Given the description of an element on the screen output the (x, y) to click on. 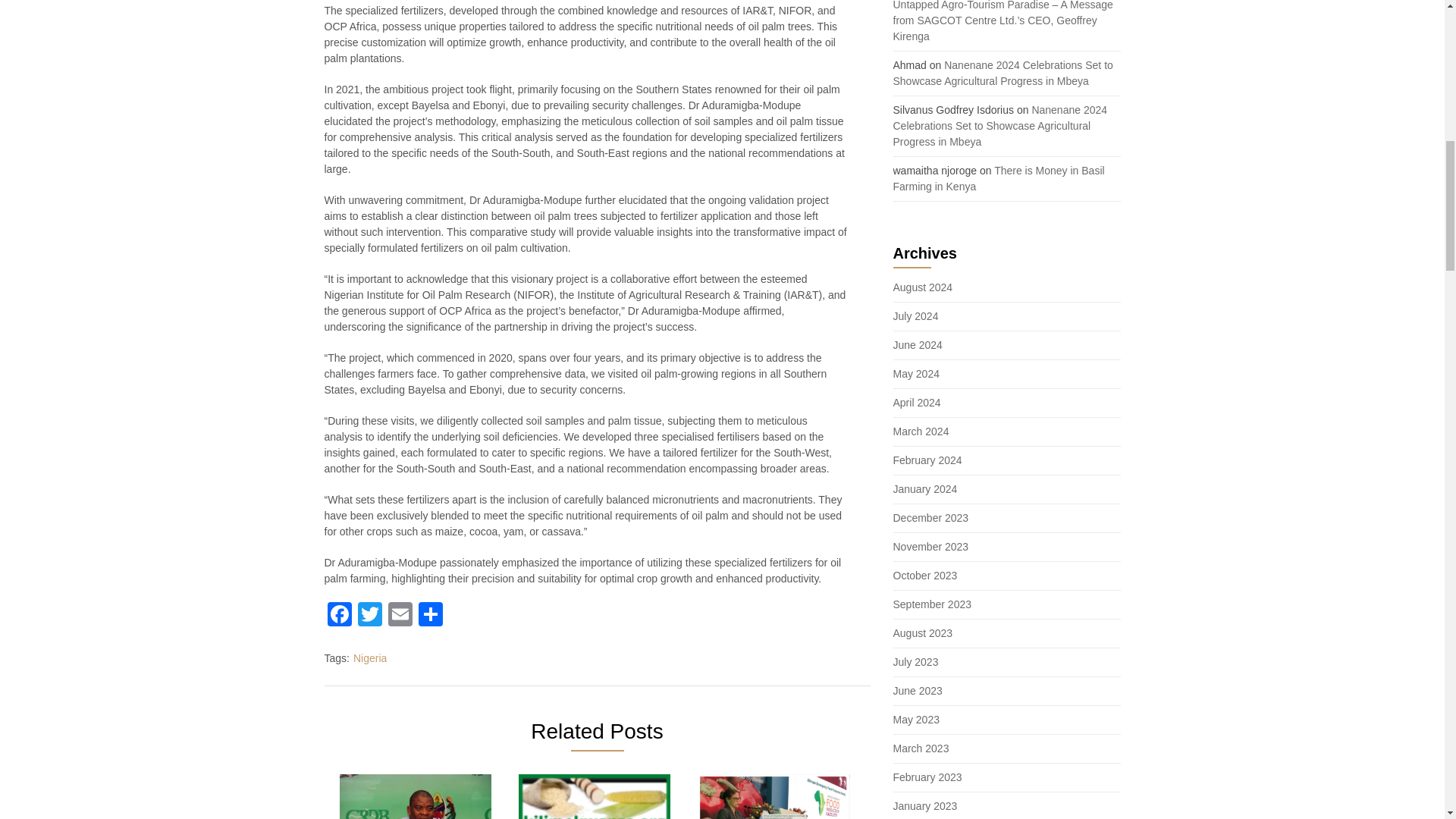
Facebook (339, 615)
Nigeria (370, 657)
Email (399, 615)
Twitter (370, 615)
Facebook (339, 615)
Twitter (370, 615)
Email (399, 615)
